Given the description of an element on the screen output the (x, y) to click on. 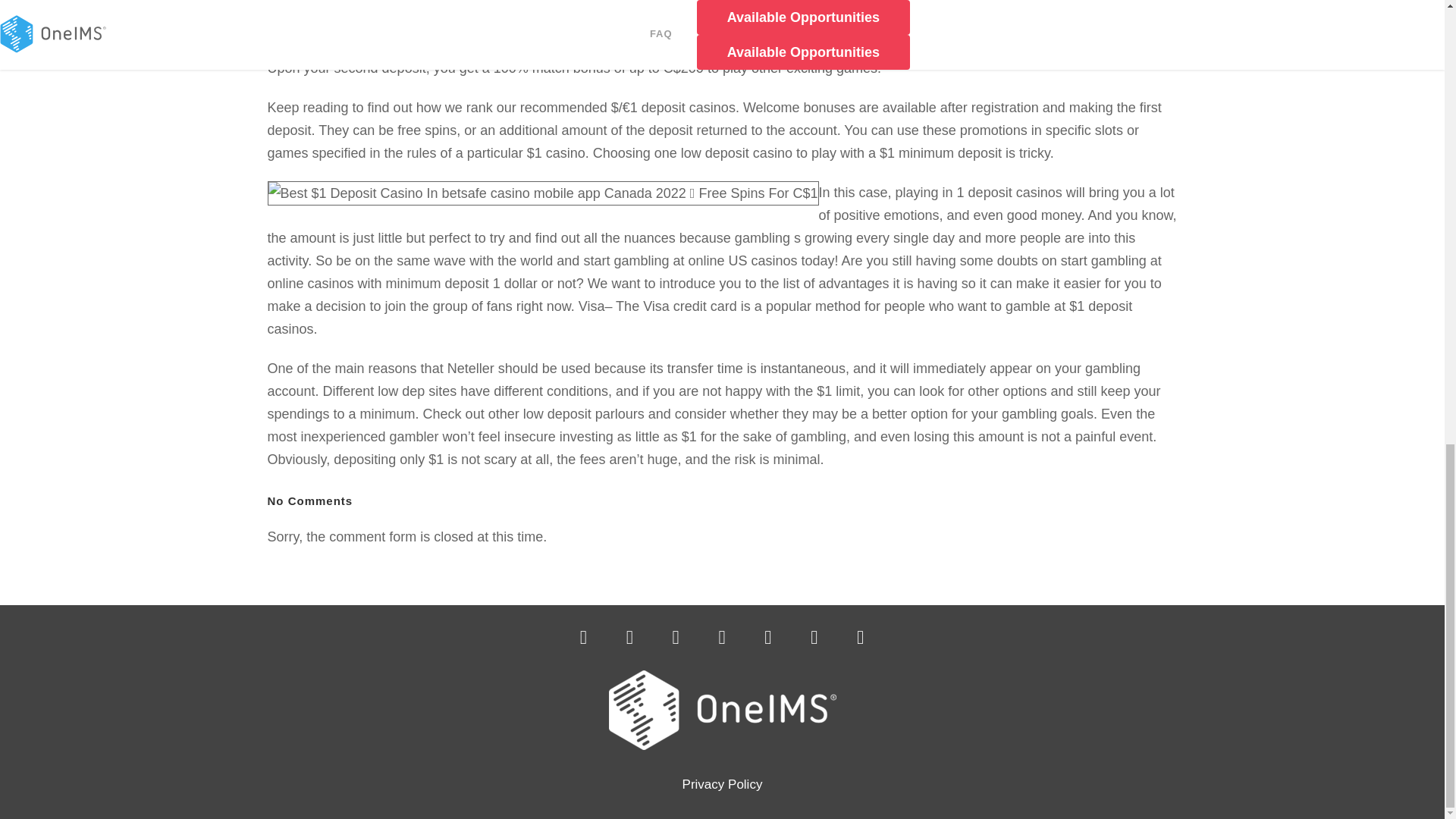
Privacy Policy (722, 784)
